Given the description of an element on the screen output the (x, y) to click on. 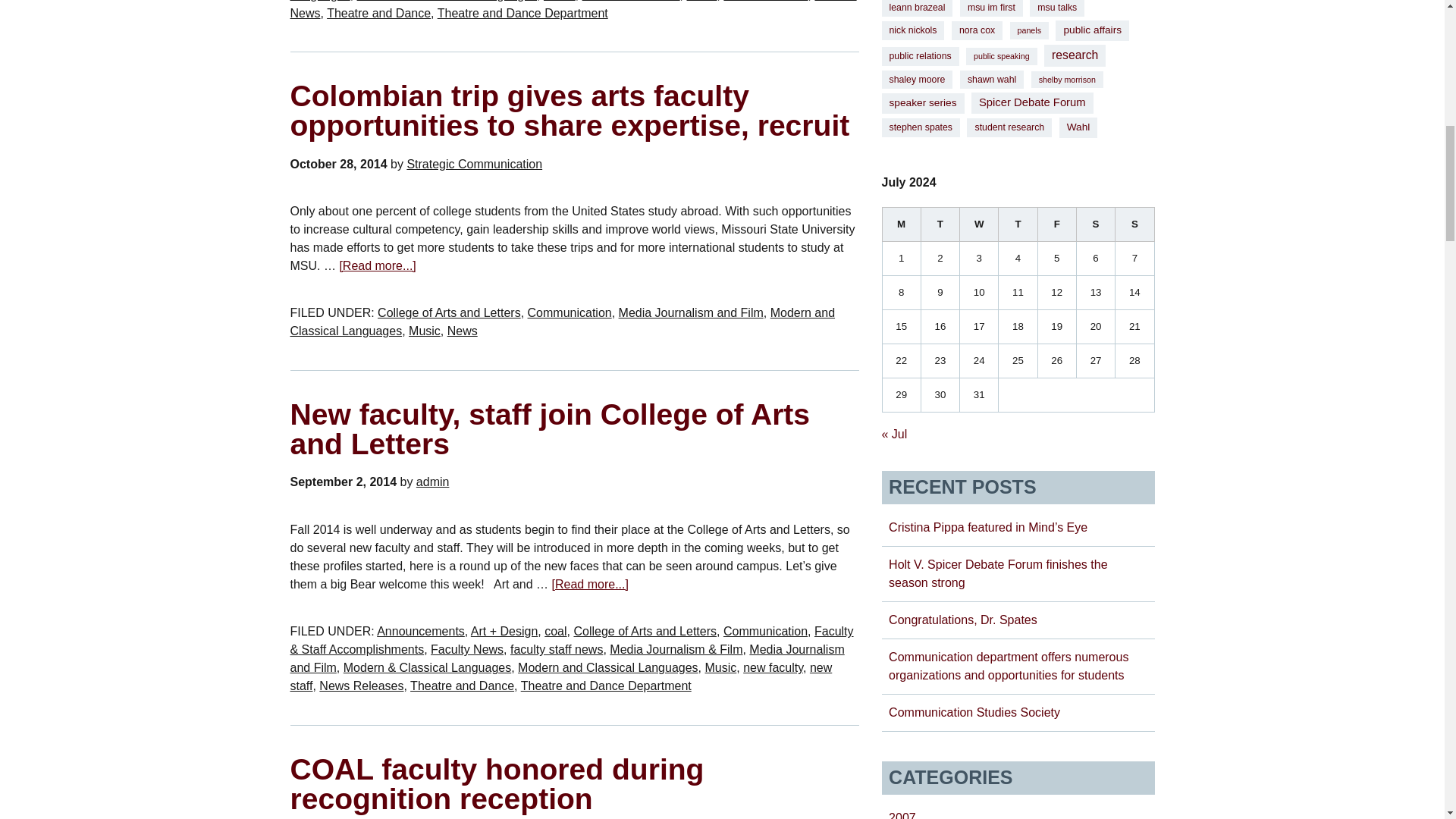
Saturday (1095, 224)
Tuesday (939, 224)
Monday (901, 224)
Sunday (1134, 224)
Wednesday (978, 224)
Friday (1055, 224)
Thursday (1017, 224)
